Given the description of an element on the screen output the (x, y) to click on. 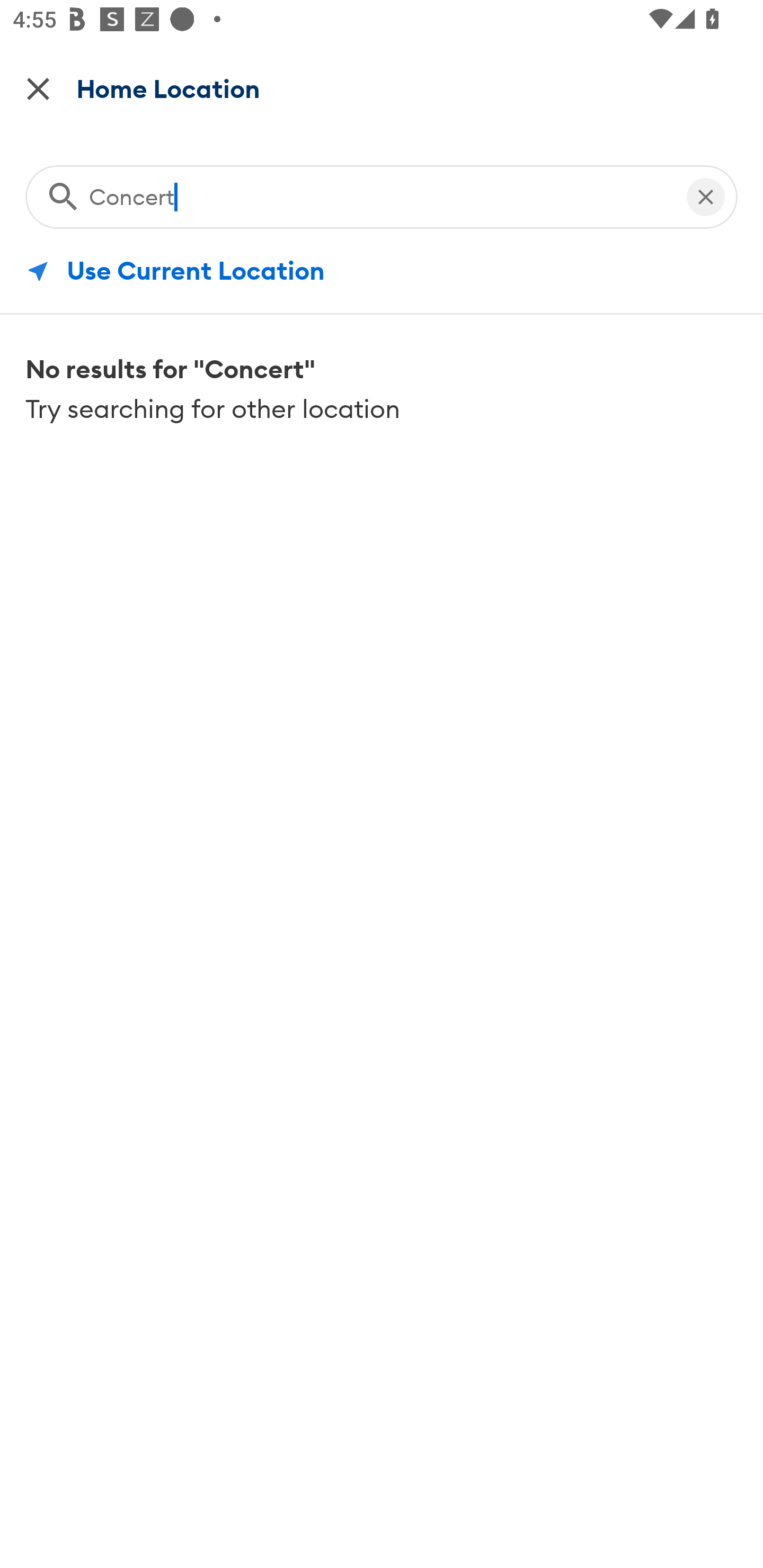
Close (38, 88)
Concert (378, 193)
Clear Search (705, 193)
Use Current Location (381, 270)
